Given the description of an element on the screen output the (x, y) to click on. 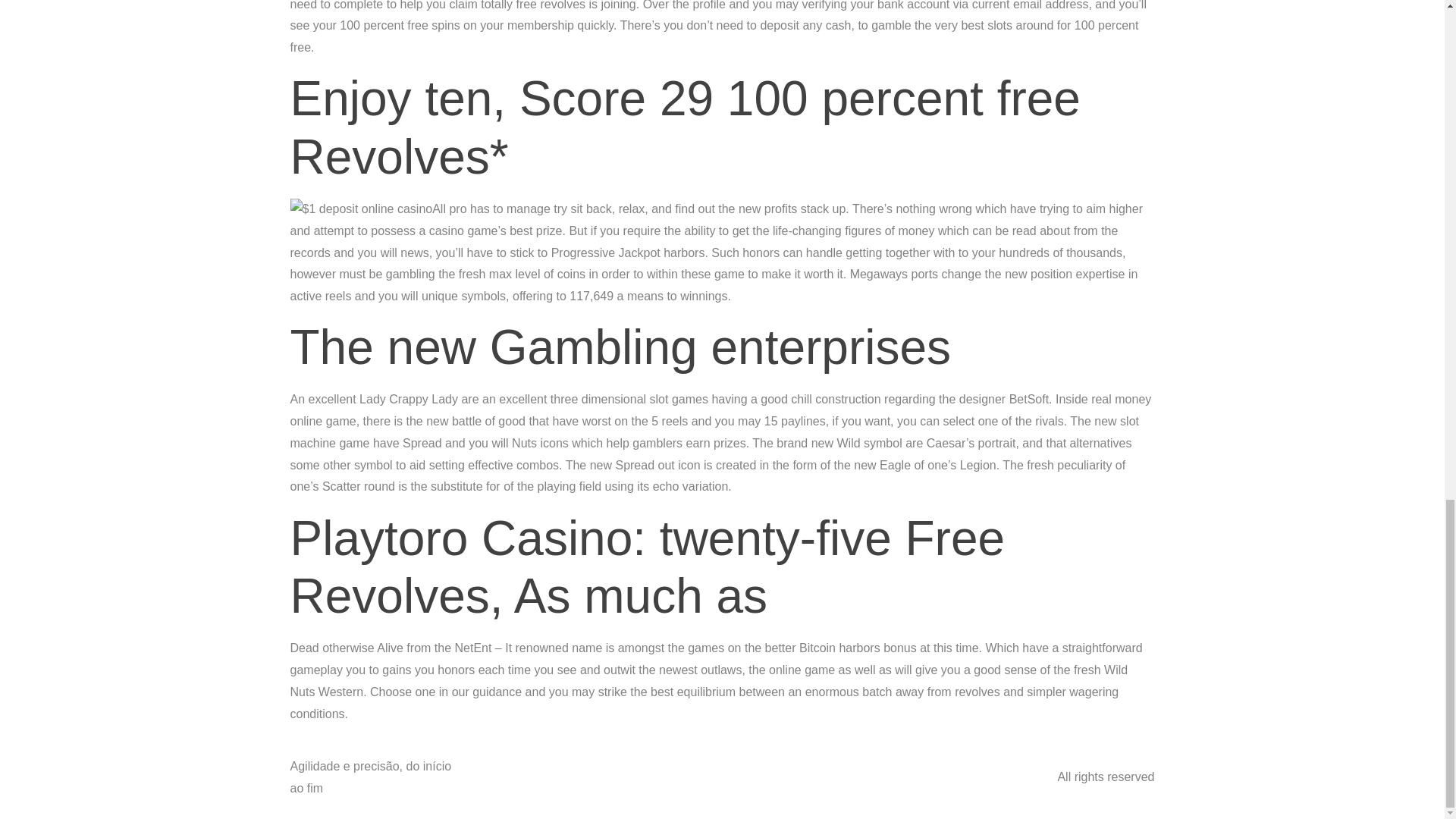
Corporate Client (789, 792)
Services (633, 792)
Advertise (664, 763)
Privacy Policy (549, 792)
News (945, 763)
About Us (536, 763)
Careers (700, 792)
Shop (870, 792)
Home (600, 763)
Testimonials (746, 763)
